Given the description of an element on the screen output the (x, y) to click on. 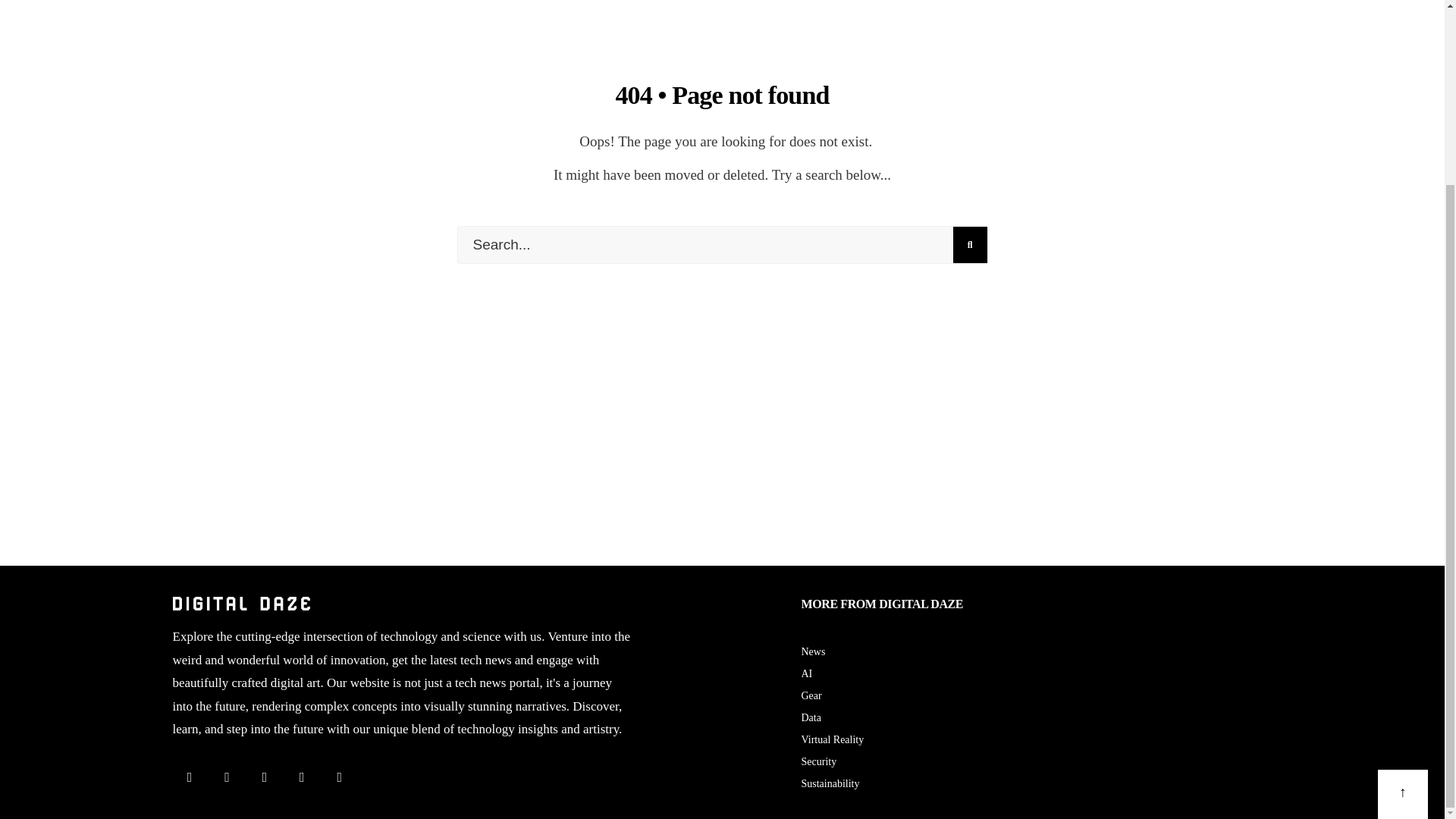
Search... (722, 244)
Sustainability (829, 783)
Scroll to top (1402, 566)
News (812, 651)
Gear (810, 695)
Security (817, 761)
Data (810, 717)
Virtual Reality (831, 739)
AI (806, 673)
